Given the description of an element on the screen output the (x, y) to click on. 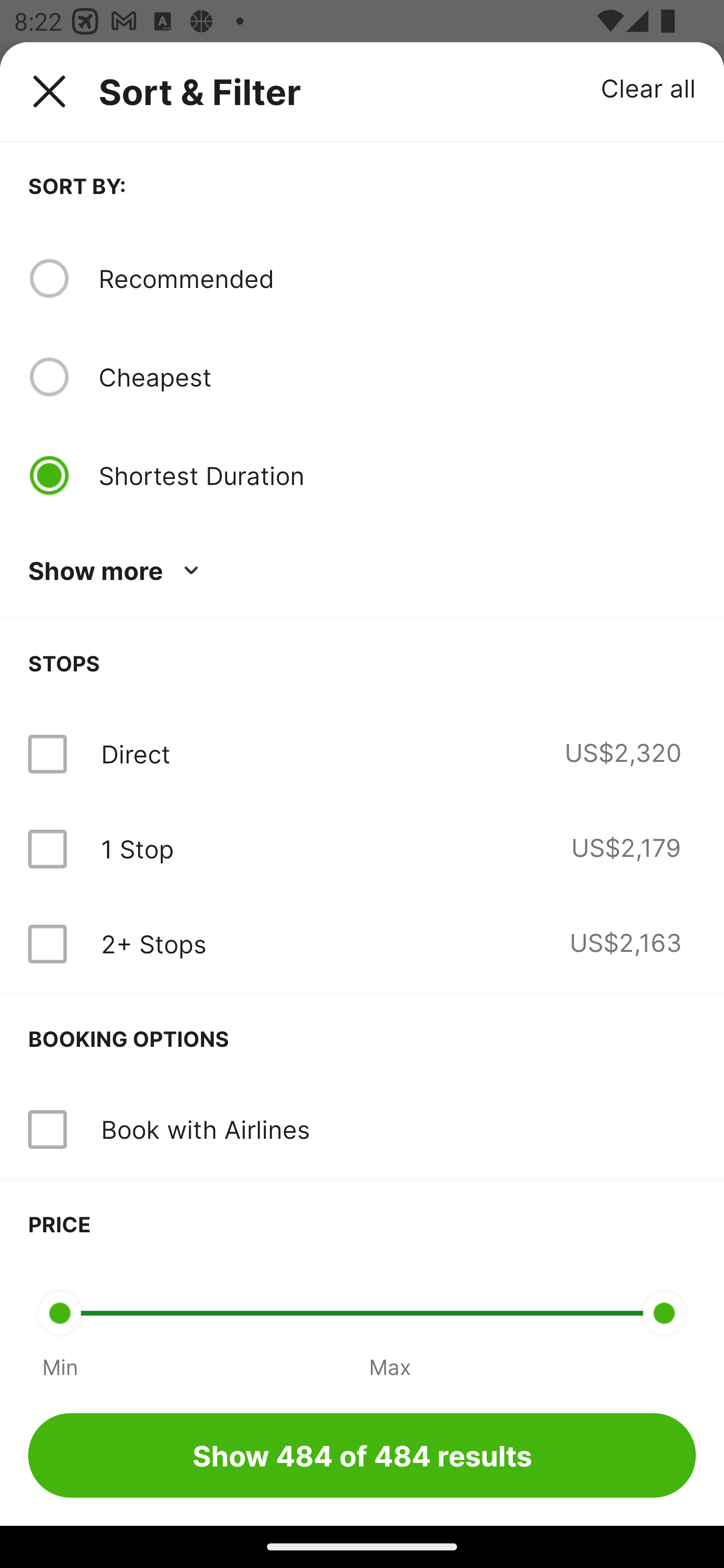
Clear all (648, 87)
Recommended  (396, 278)
Cheapest (396, 377)
Shortest Duration (396, 474)
Show more (116, 570)
Direct US$2,320 (362, 754)
Direct (135, 753)
1 Stop US$2,179 (362, 848)
1 Stop (136, 849)
2+ Stops US$2,163 (362, 943)
2+ Stops (153, 943)
Book with Airlines (362, 1129)
Book with Airlines (204, 1128)
Show 484 of 484 results (361, 1454)
